Given the description of an element on the screen output the (x, y) to click on. 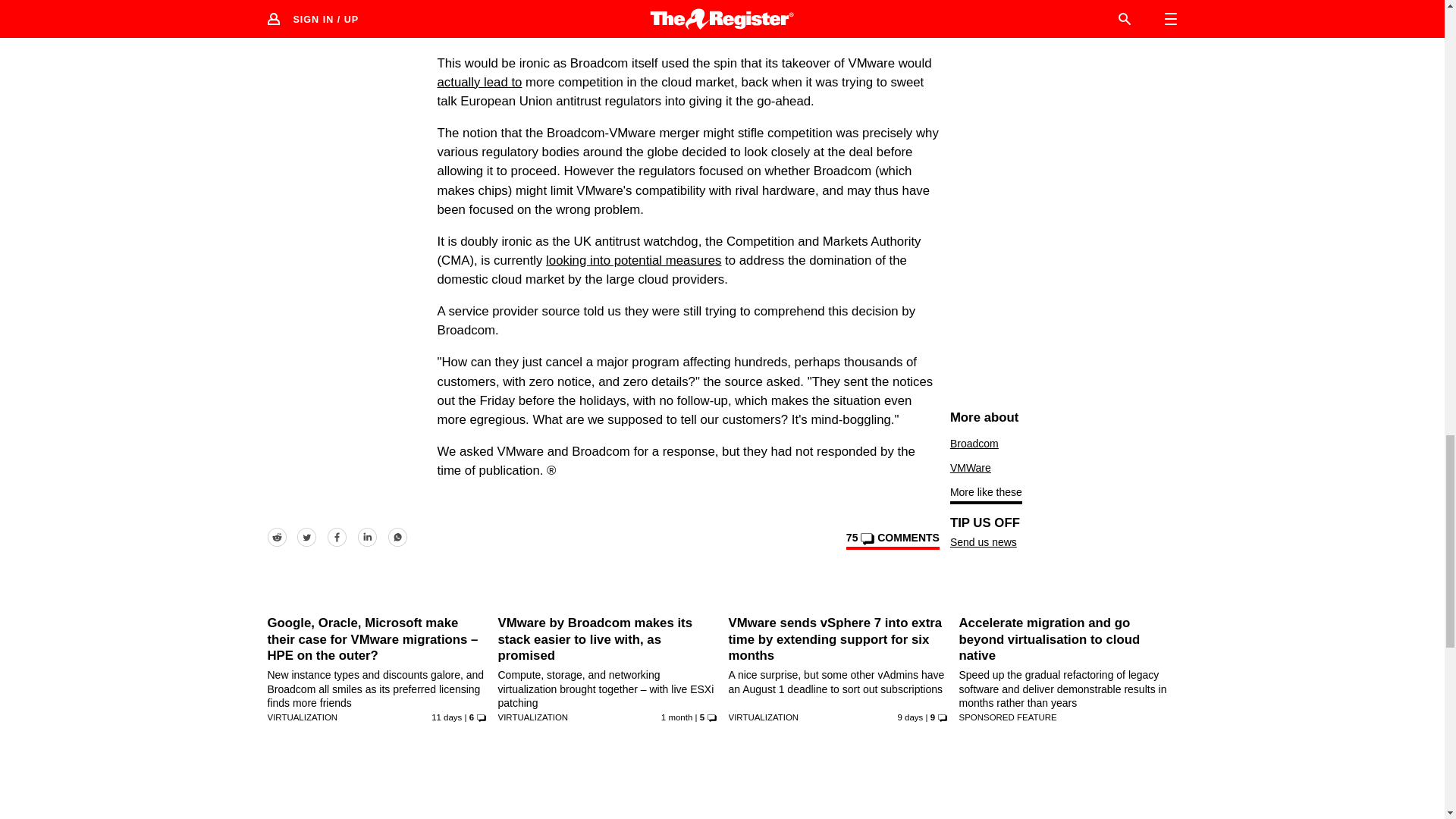
22 Jul 2024 4:45 (445, 716)
24 Jul 2024 3:48 (910, 716)
25 Jun 2024 13:1 (677, 716)
View comments on this article (892, 540)
